Given the description of an element on the screen output the (x, y) to click on. 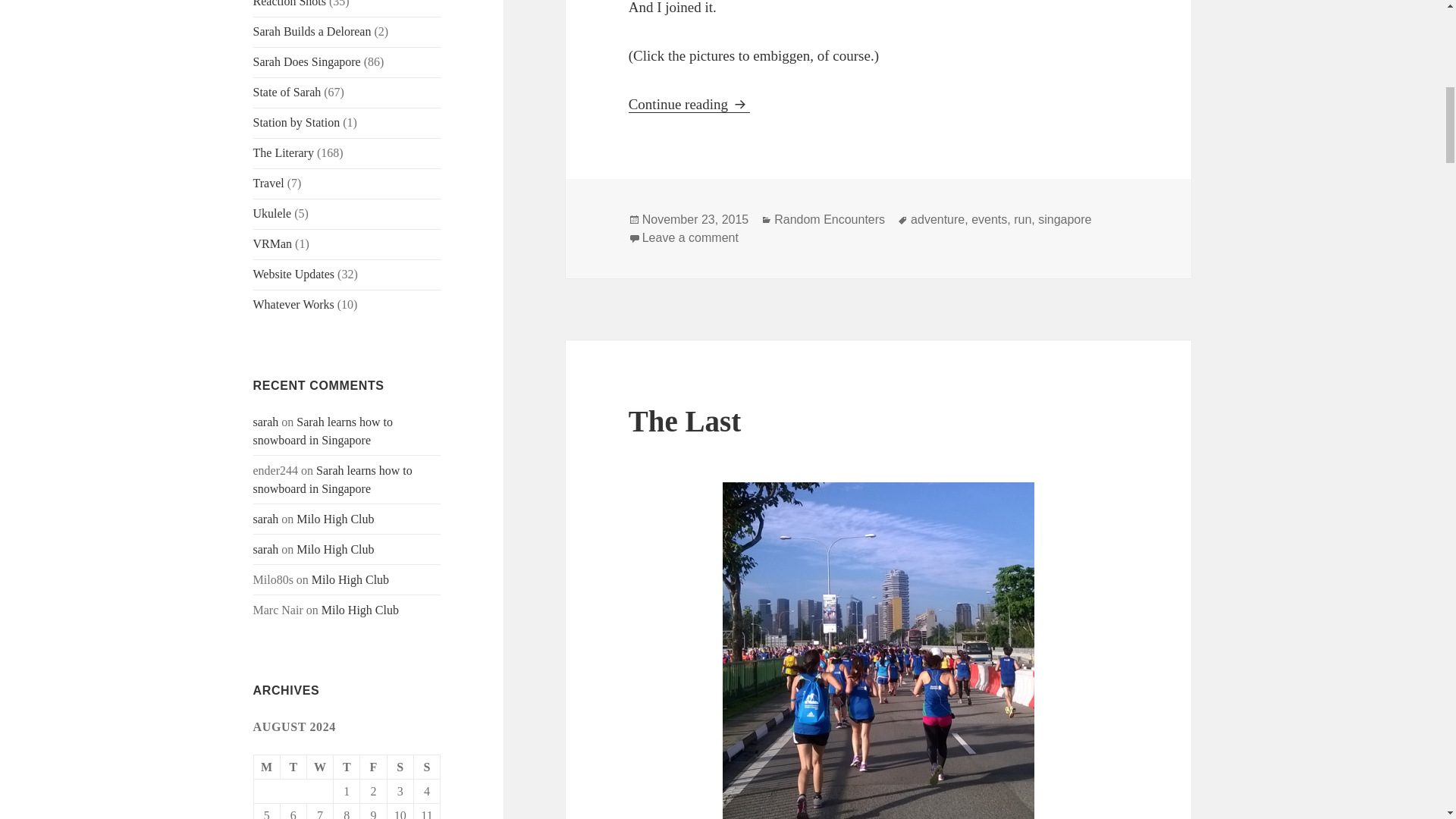
sarah (266, 518)
Milo High Club (359, 609)
Whatever Works (293, 304)
Reaction Shots (289, 3)
Wednesday (320, 767)
Milo High Club (335, 549)
Sarah learns how to snowboard in Singapore (332, 479)
VRMan (272, 243)
Ukulele (272, 213)
The Literary (283, 152)
Thursday (688, 104)
Website Updates (346, 767)
Milo High Club (293, 273)
Sarah Does Singapore (335, 518)
